Given the description of an element on the screen output the (x, y) to click on. 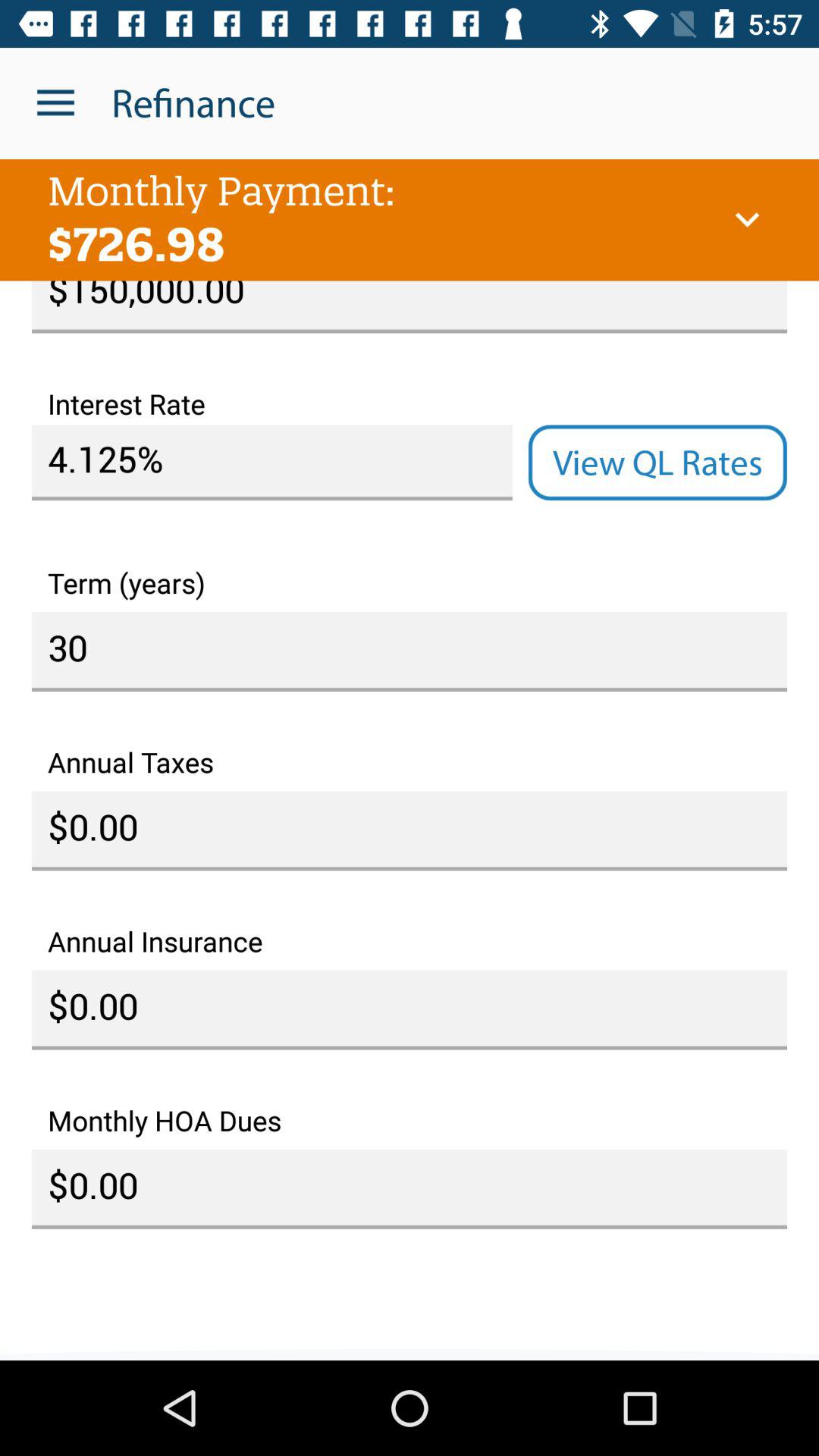
press the item below the refinance (747, 219)
